Given the description of an element on the screen output the (x, y) to click on. 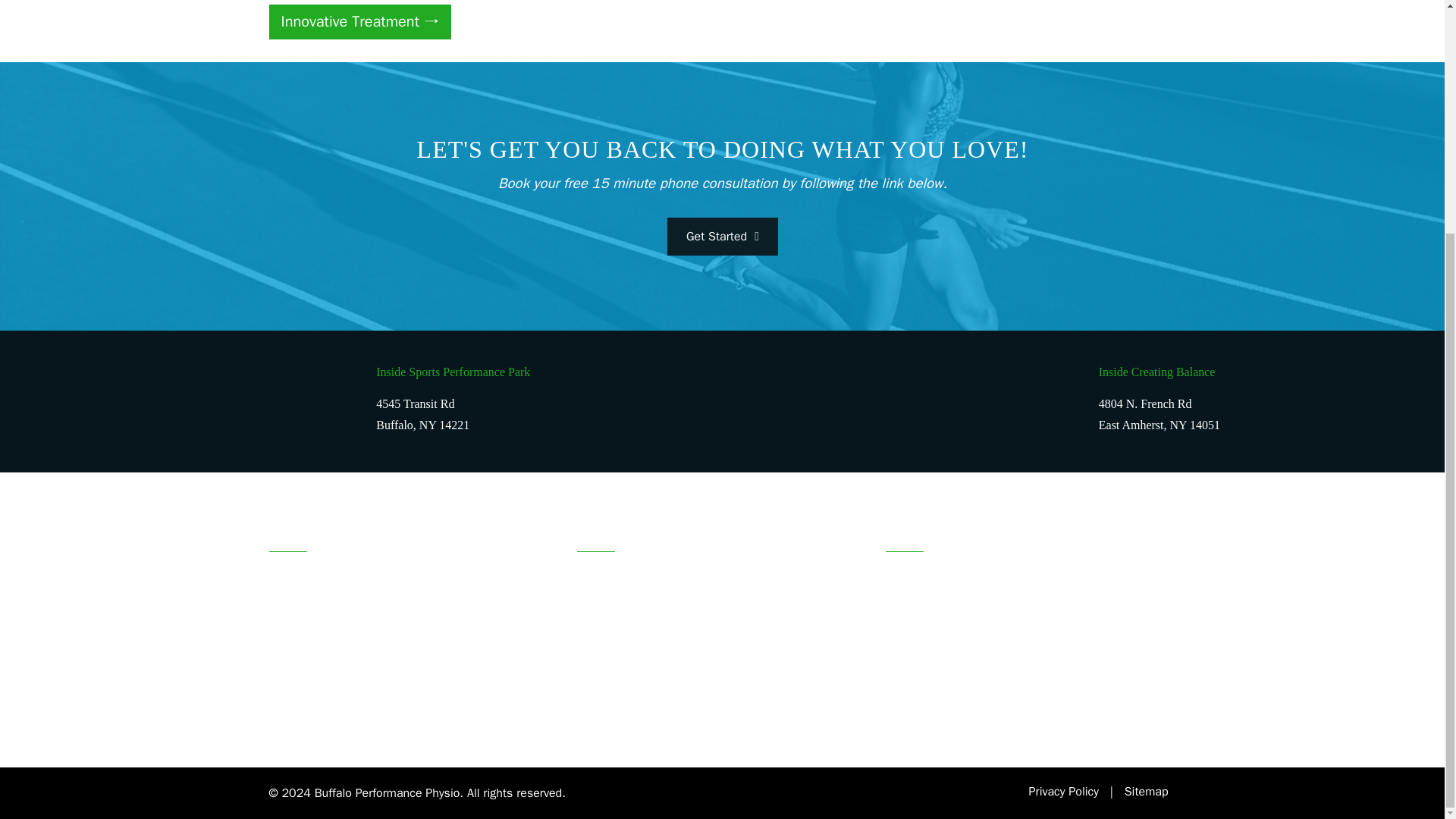
Blog (896, 714)
Physical Therapy (617, 581)
About Us (907, 647)
Get Started (721, 238)
Free Consultation (928, 581)
Privacy Policy (1064, 791)
Get Started (720, 236)
Innovative Treatment (359, 21)
Sitemap (1146, 791)
